Given the description of an element on the screen output the (x, y) to click on. 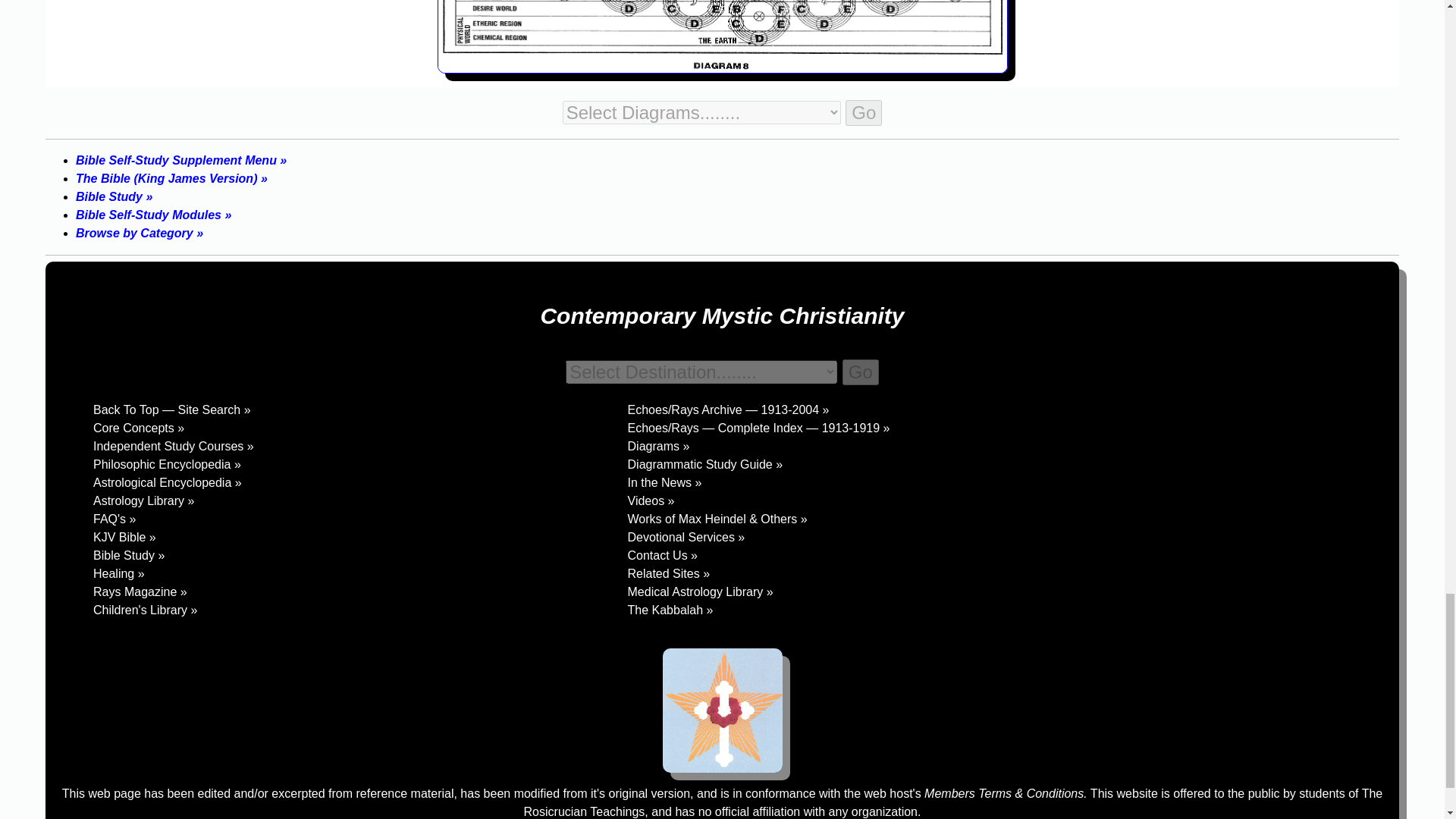
Go (863, 112)
Go (861, 371)
